Given the description of an element on the screen output the (x, y) to click on. 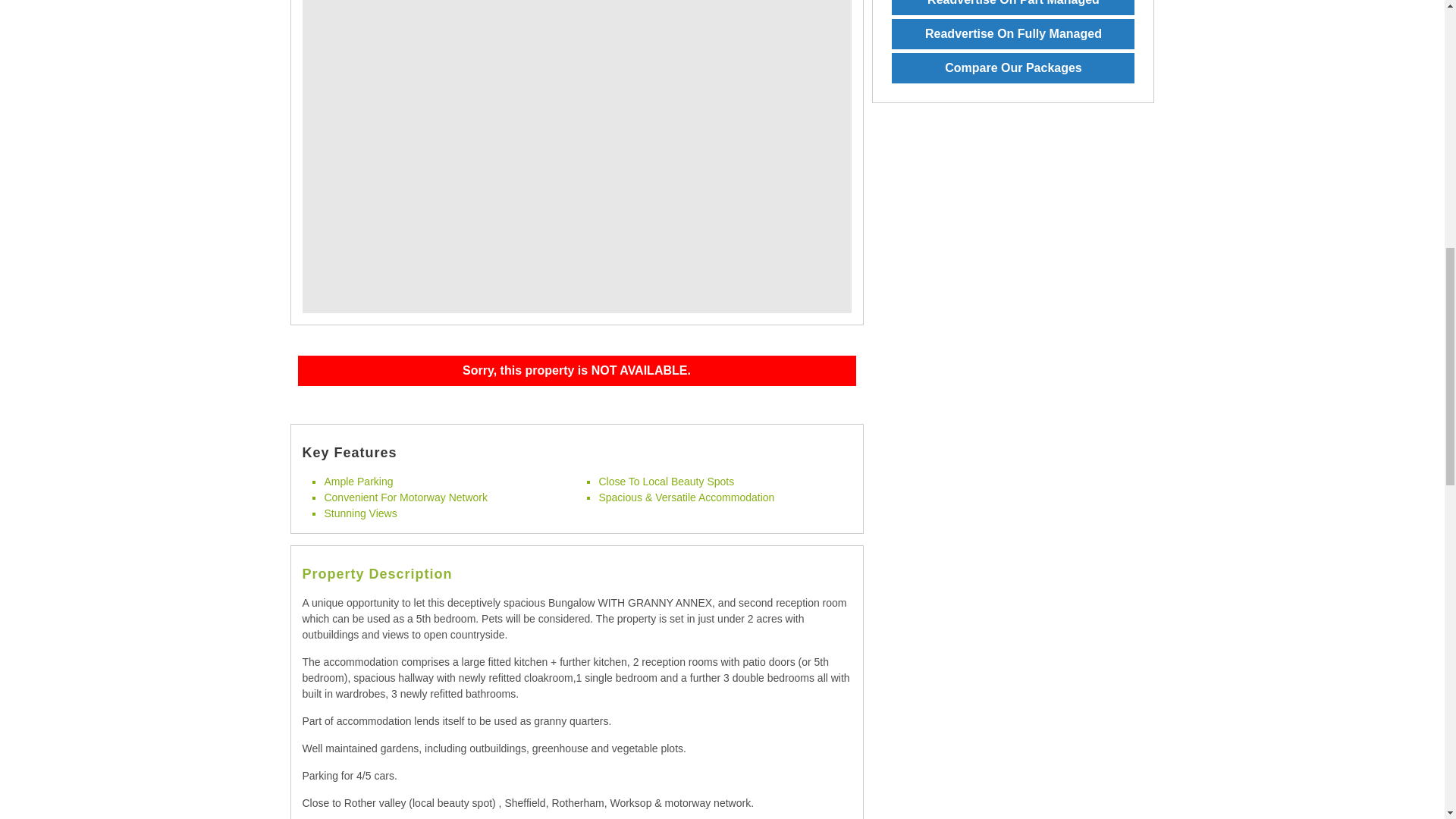
Compare Our Packages (1012, 68)
Readvertise On Fully Managed (1012, 33)
Readvertise On Part Managed (1012, 7)
